Given the description of an element on the screen output the (x, y) to click on. 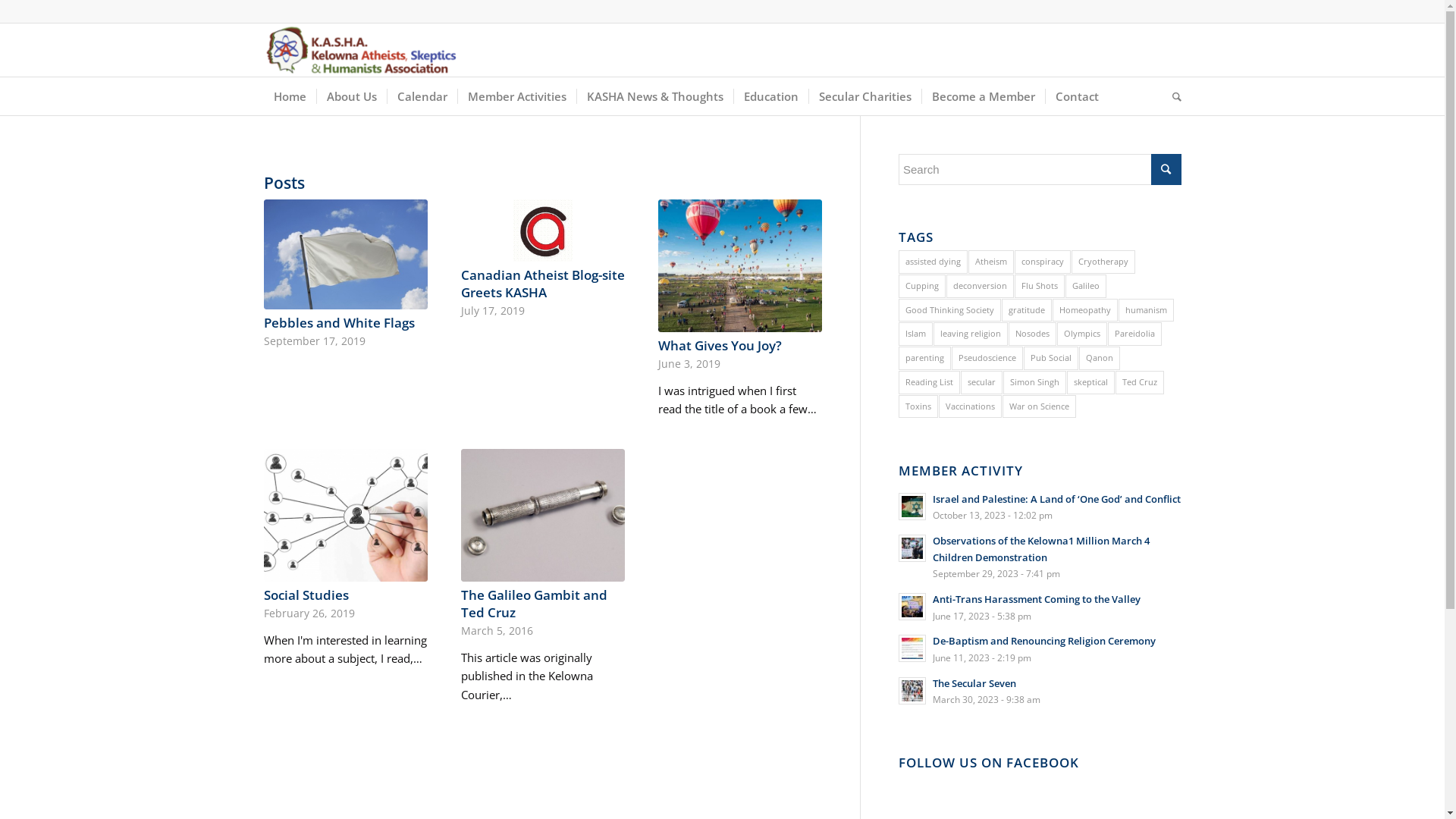
Become a Member Element type: text (982, 96)
Calendar Element type: text (421, 96)
Islam Element type: text (915, 333)
secular Element type: text (981, 382)
About Us Element type: text (350, 96)
Atheism Element type: text (990, 261)
Member Activities Element type: text (515, 96)
deconversion Element type: text (979, 286)
Secular Charities Element type: text (864, 96)
Social Studies Element type: text (305, 594)
Canadian Atheist Blog-site Greets KASHA Element type: text (542, 283)
Galileo Element type: text (1085, 286)
Vaccinations Element type: text (969, 406)
War on Science Element type: text (1039, 406)
KASHA News & Thoughts Element type: text (654, 96)
skeptical Element type: text (1090, 382)
Qanon Element type: text (1099, 358)
What Gives You Joy? Element type: text (719, 345)
Education Element type: text (769, 96)
Nosodes Element type: text (1032, 333)
Pebbles and White Flags Element type: text (338, 322)
Cupping Element type: text (921, 286)
Flu Shots Element type: text (1039, 286)
Toxins Element type: text (918, 406)
Reading List Element type: text (929, 382)
gratitude Element type: text (1026, 310)
Pareidolia Element type: text (1134, 333)
conspiracy Element type: text (1042, 261)
humanism Element type: text (1145, 310)
Pub Social Element type: text (1050, 358)
Cryotherapy Element type: text (1103, 261)
Contact Element type: text (1076, 96)
The Secular Seven
March 30, 2023 - 9:38 am Element type: text (1039, 691)
leaving religion Element type: text (970, 333)
assisted dying Element type: text (932, 261)
Home Element type: text (289, 96)
The Galileo Gambit and Ted Cruz Element type: text (534, 603)
Pseudoscience Element type: text (986, 358)
Ted Cruz Element type: text (1139, 382)
Simon Singh Element type: text (1034, 382)
Homeopathy Element type: text (1084, 310)
Olympics Element type: text (1082, 333)
parenting Element type: text (924, 358)
Good Thinking Society Element type: text (949, 310)
